Given the description of an element on the screen output the (x, y) to click on. 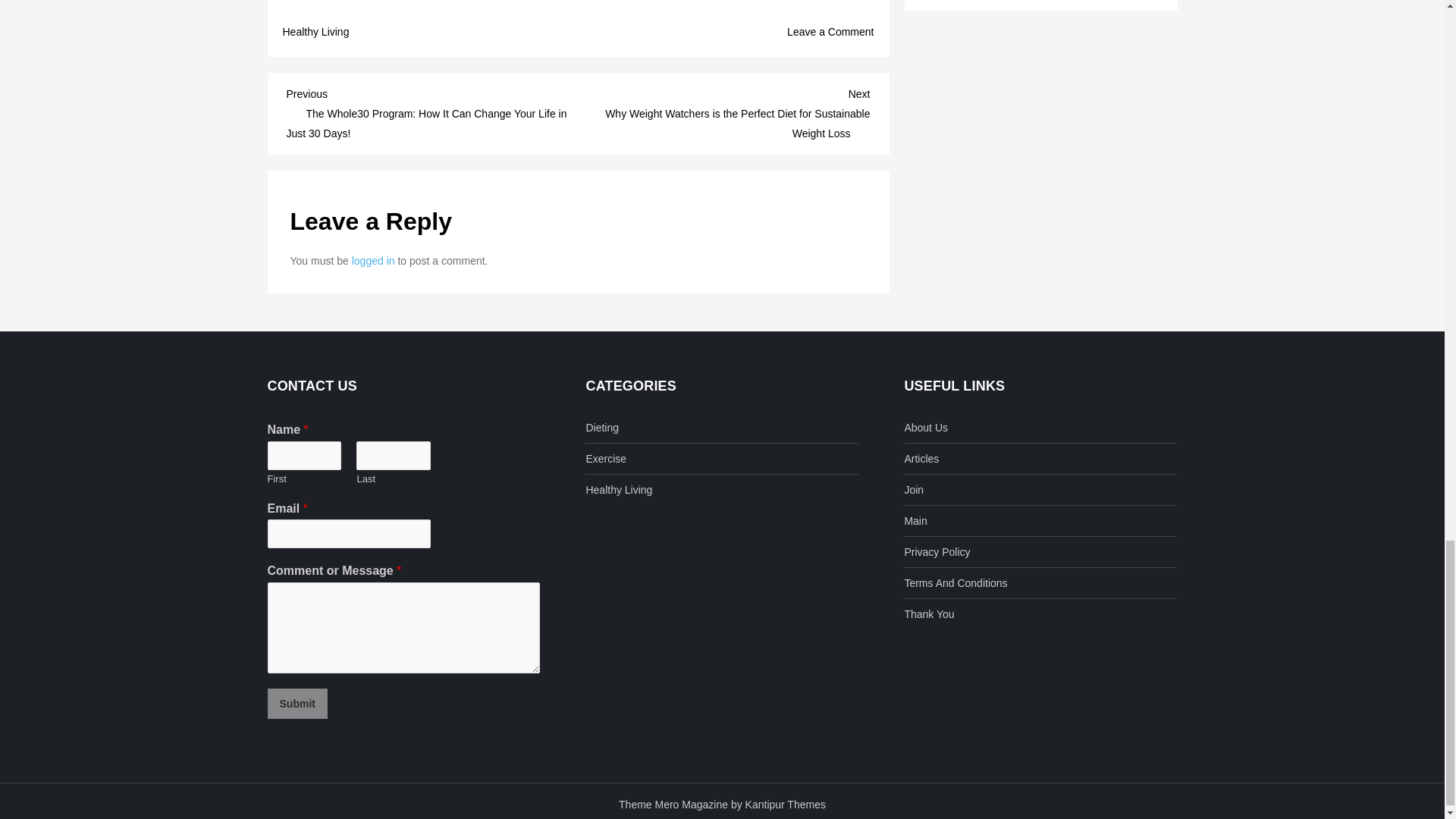
Submit (296, 703)
About Us (925, 427)
Healthy Living (315, 31)
logged in (373, 260)
Dieting (601, 427)
Exercise (605, 458)
Healthy Living (618, 489)
